Given the description of an element on the screen output the (x, y) to click on. 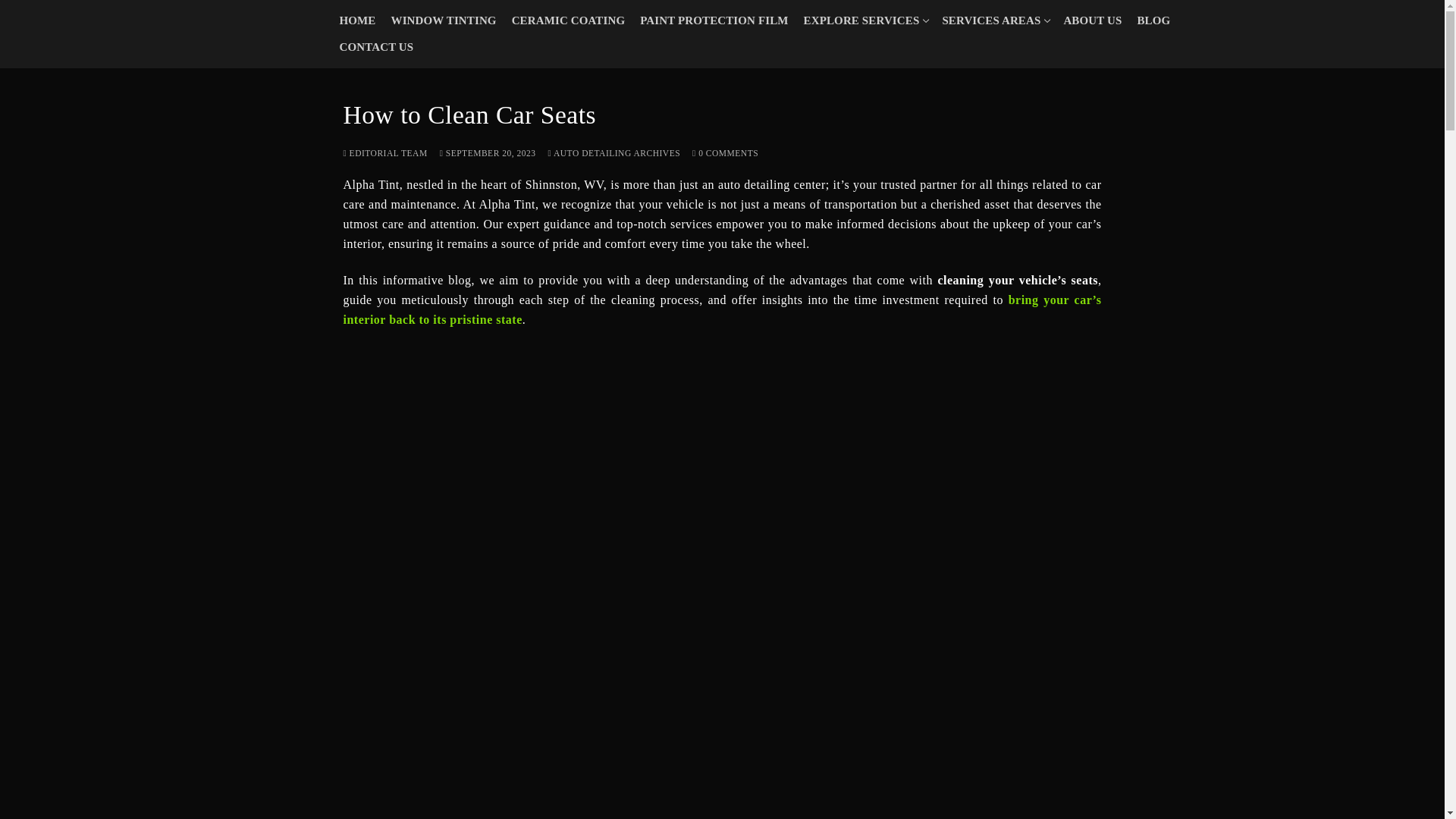
ABOUT US (865, 20)
PAINT PROTECTION FILM (1092, 20)
WINDOW TINTING (712, 20)
HOME (443, 20)
BLOG (357, 20)
CONTACT US (994, 20)
CERAMIC COATING (1153, 20)
